Given the description of an element on the screen output the (x, y) to click on. 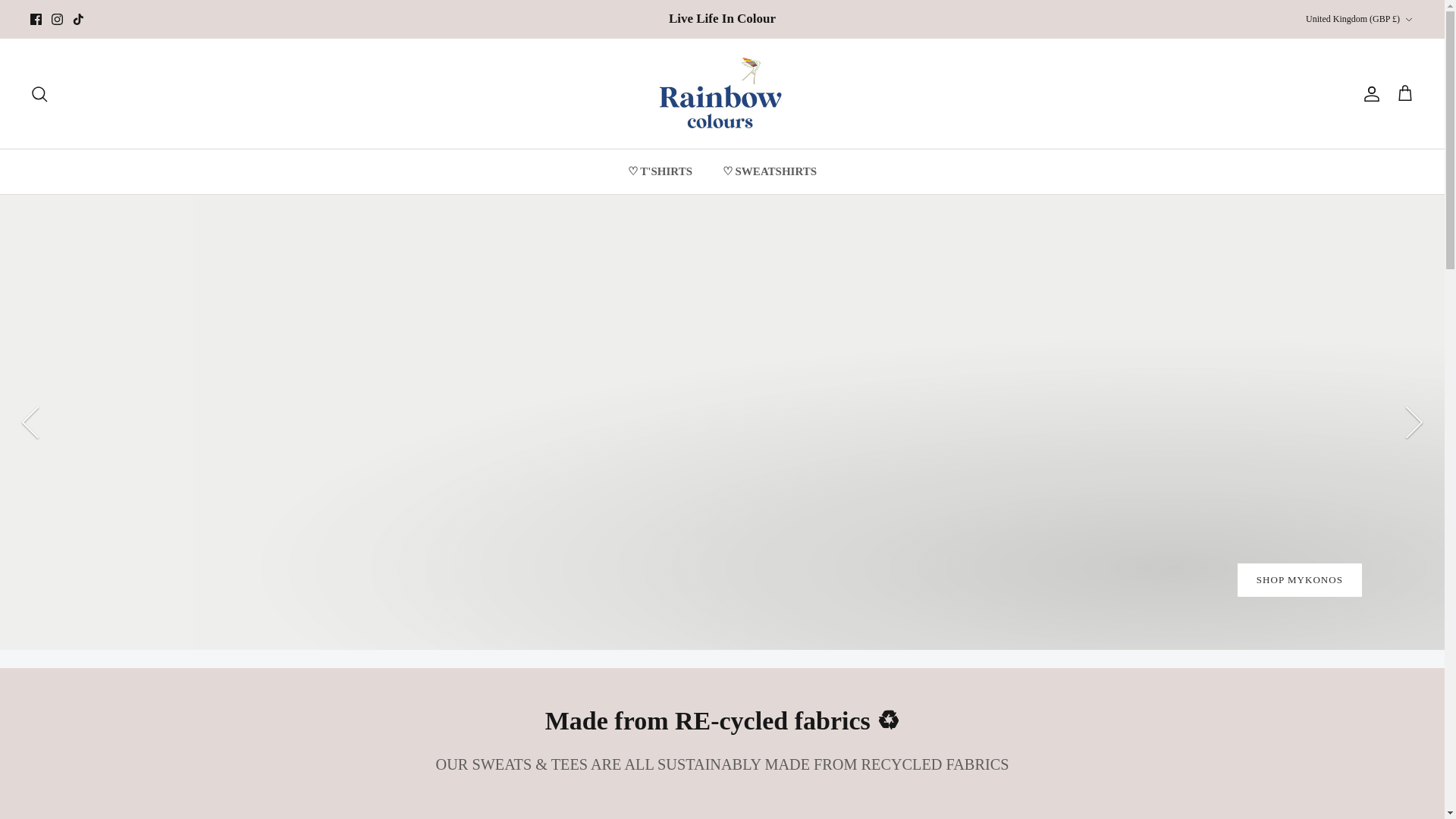
Rainbow Colours London (721, 93)
Down (1408, 19)
Instagram (56, 19)
Facebook (36, 19)
Instagram (56, 19)
LEFT (30, 422)
Facebook (36, 19)
